Given the description of an element on the screen output the (x, y) to click on. 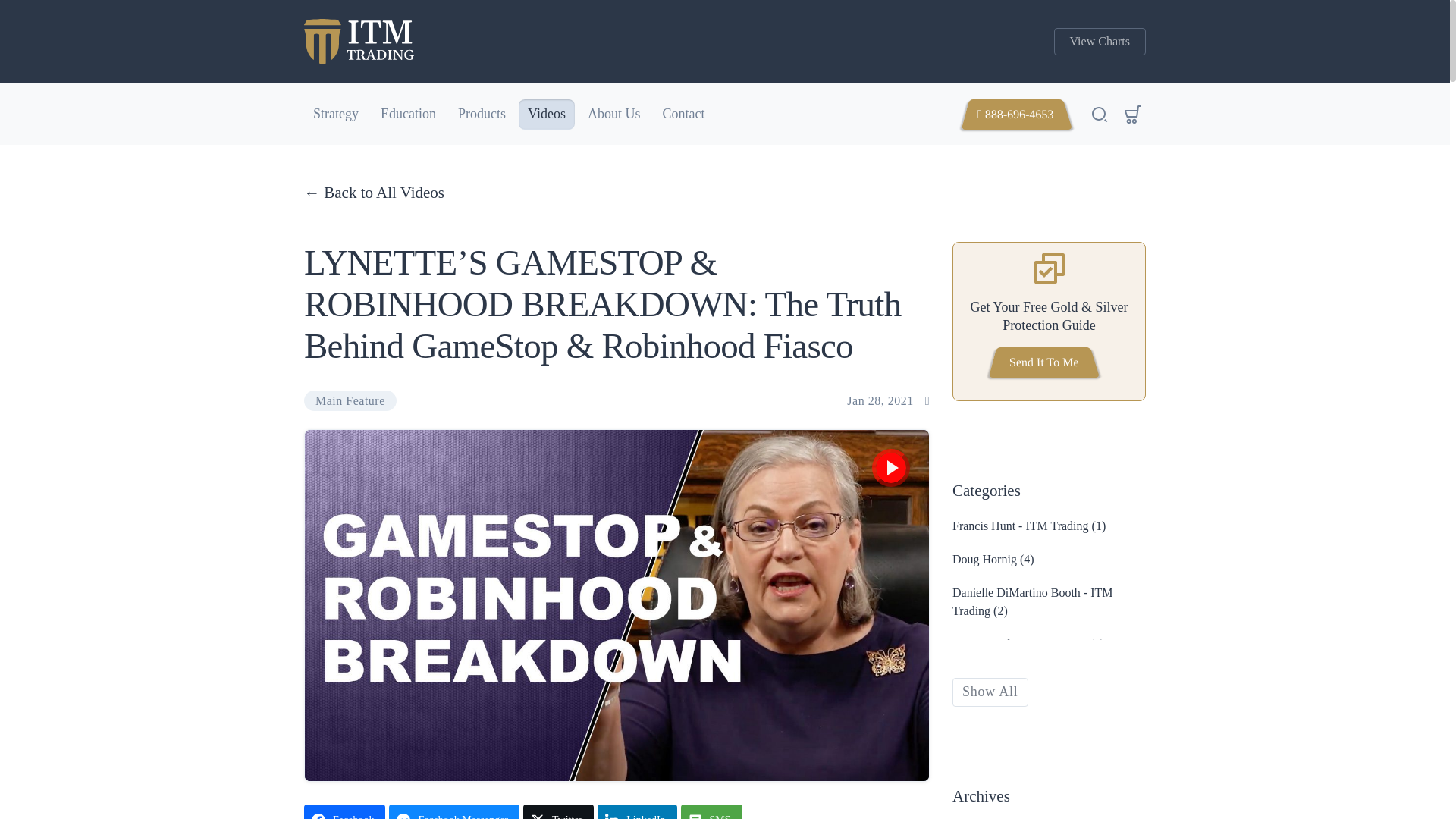
SMS (711, 811)
Share on Facebook (344, 811)
View Charts (1099, 41)
Facebook Messenger (453, 811)
Videos (546, 114)
About Us (613, 114)
Share on Facebook Messenger (453, 811)
Education (408, 114)
Send It To Me (1045, 362)
Facebook (344, 811)
